Given the description of an element on the screen output the (x, y) to click on. 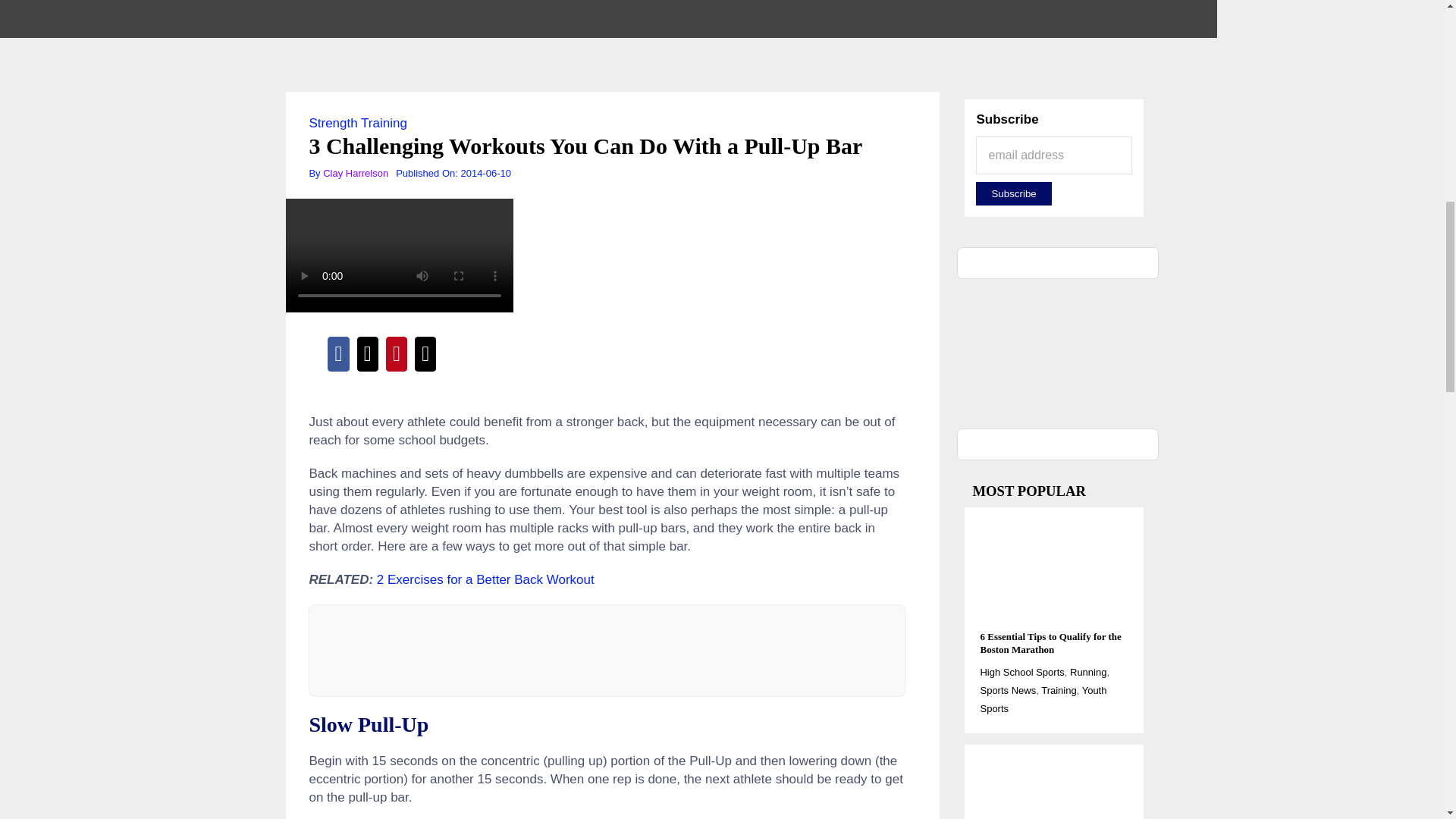
Subscribe (1013, 193)
Strength Training (357, 123)
Posts by Clay Harrelson (355, 173)
